Given the description of an element on the screen output the (x, y) to click on. 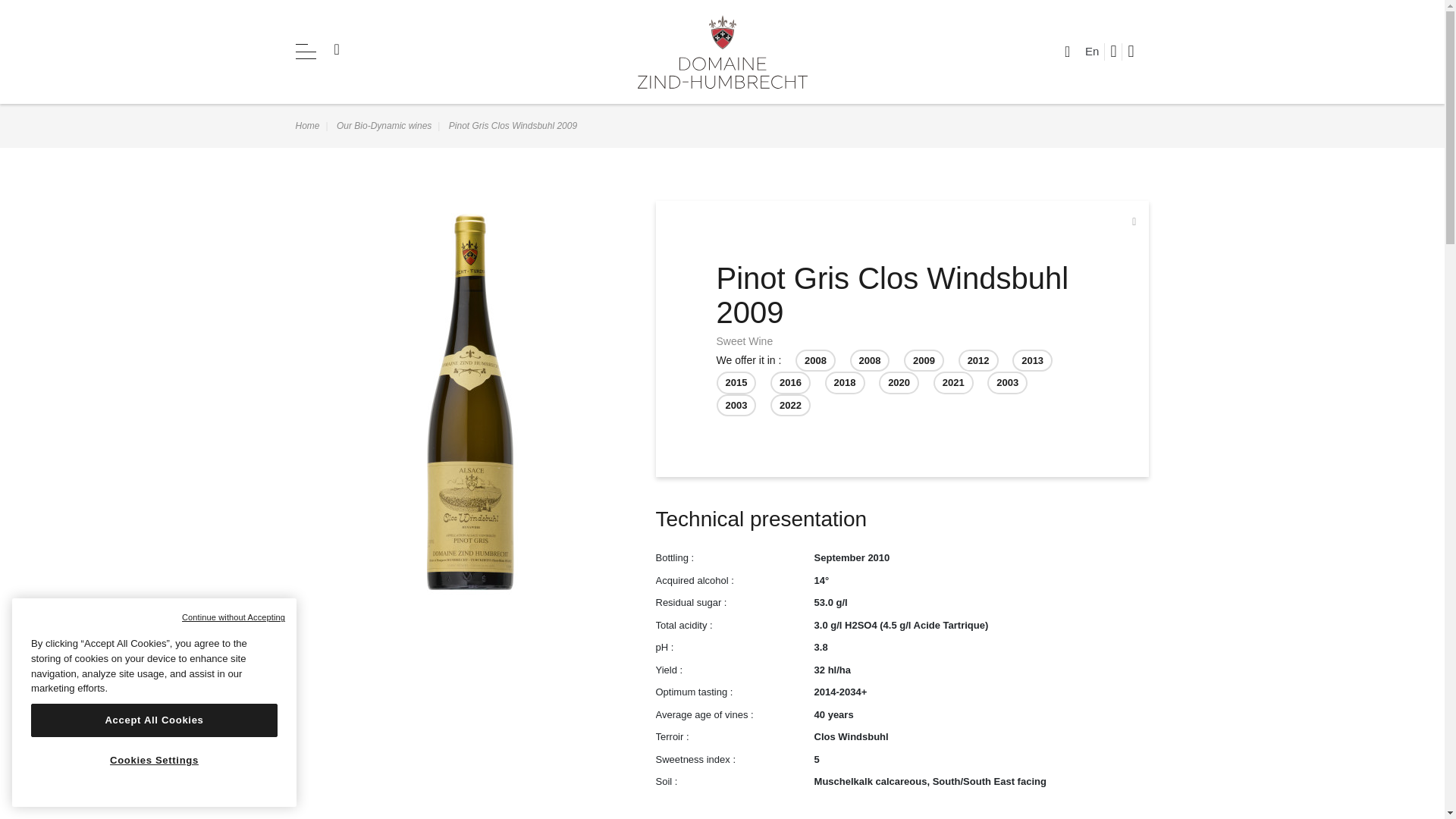
View my shopping cart (1137, 52)
